Given the description of an element on the screen output the (x, y) to click on. 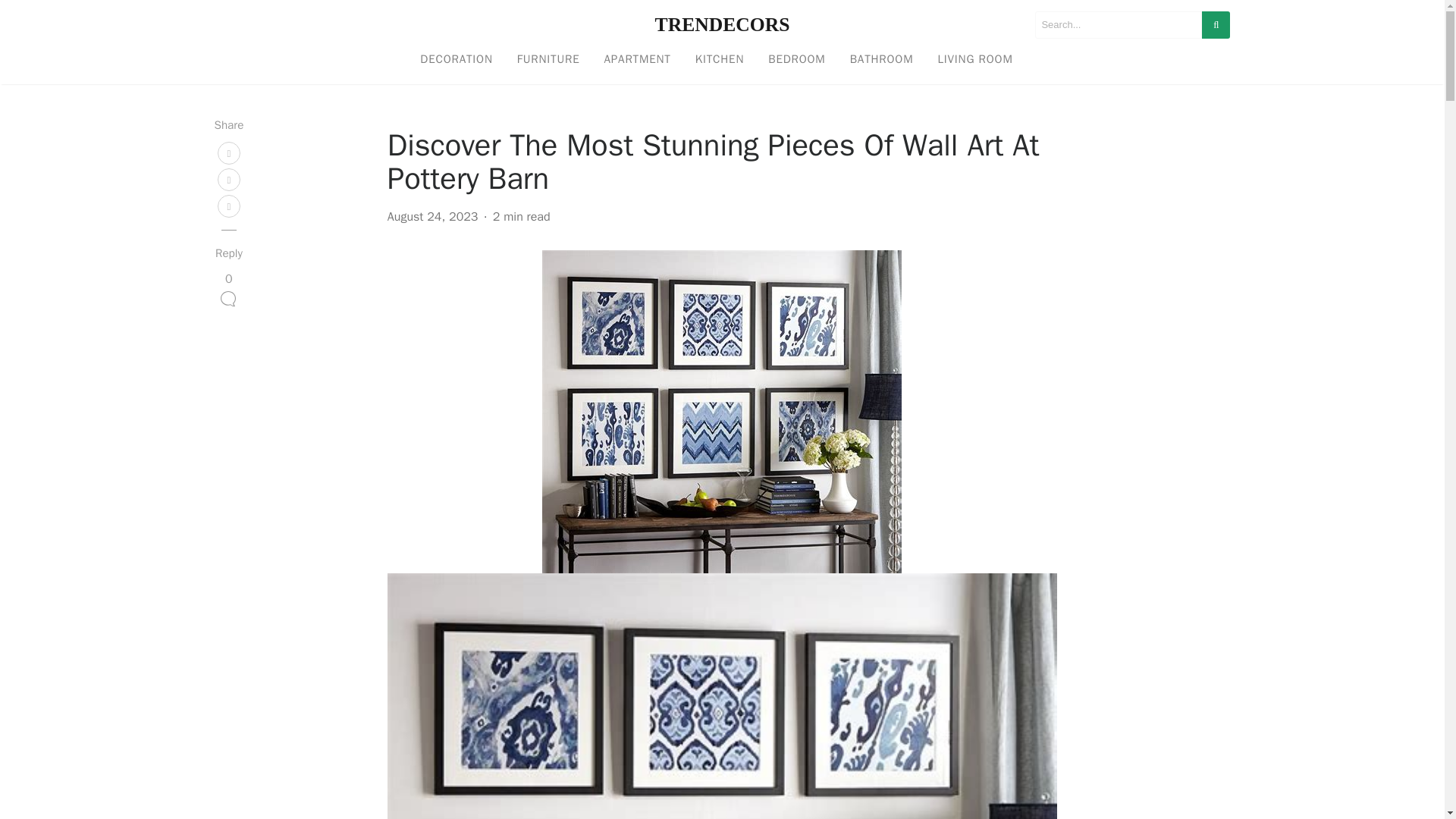
BATHROOM (882, 59)
KITCHEN (718, 59)
LIVING ROOM (974, 59)
Search for: (1118, 24)
FURNITURE (548, 59)
APARTMENT (637, 59)
BEDROOM (796, 59)
TRENDECORS (722, 24)
DECORATION (455, 59)
